Given the description of an element on the screen output the (x, y) to click on. 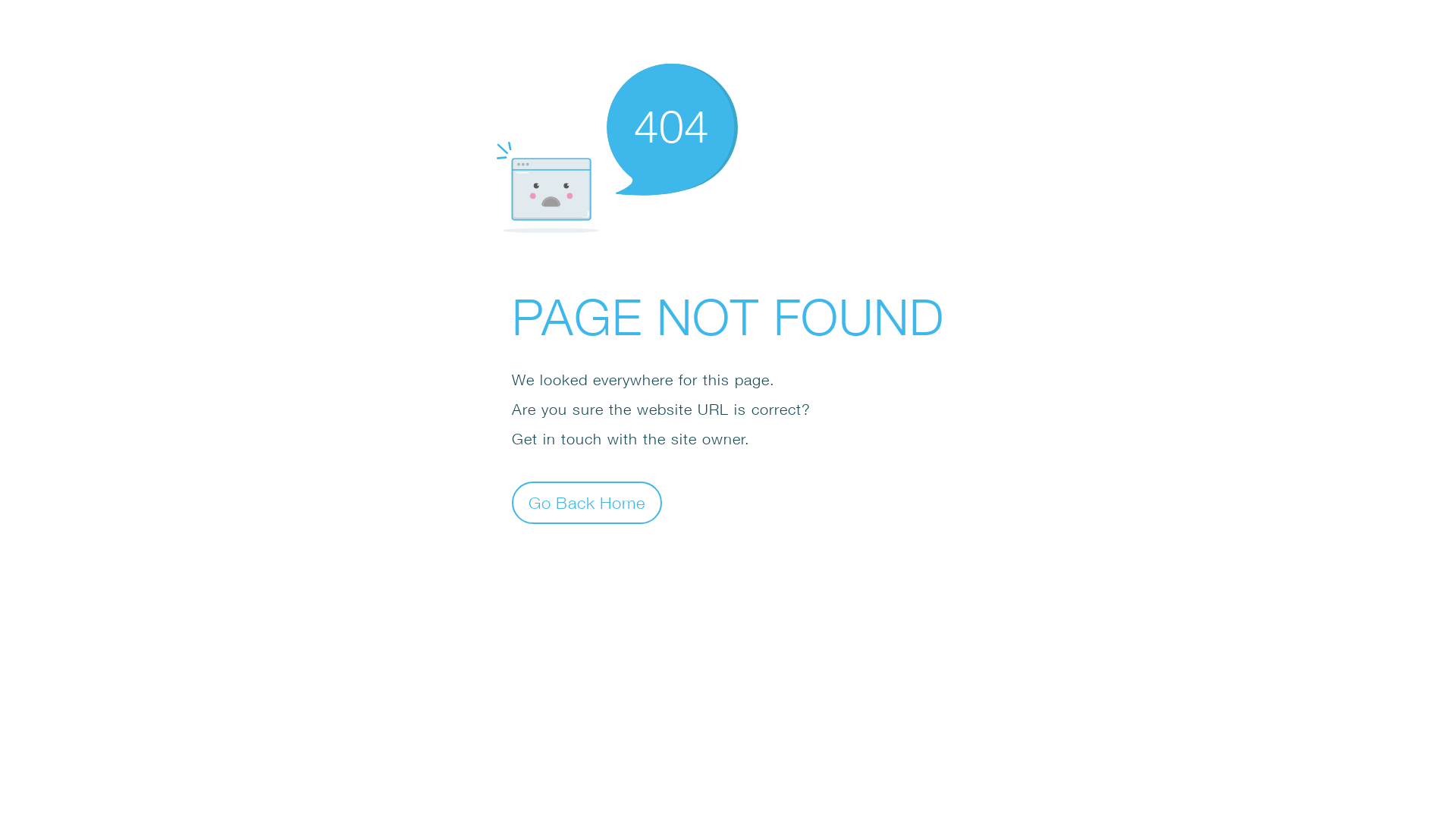
Go Back Home Element type: text (586, 502)
